Given the description of an element on the screen output the (x, y) to click on. 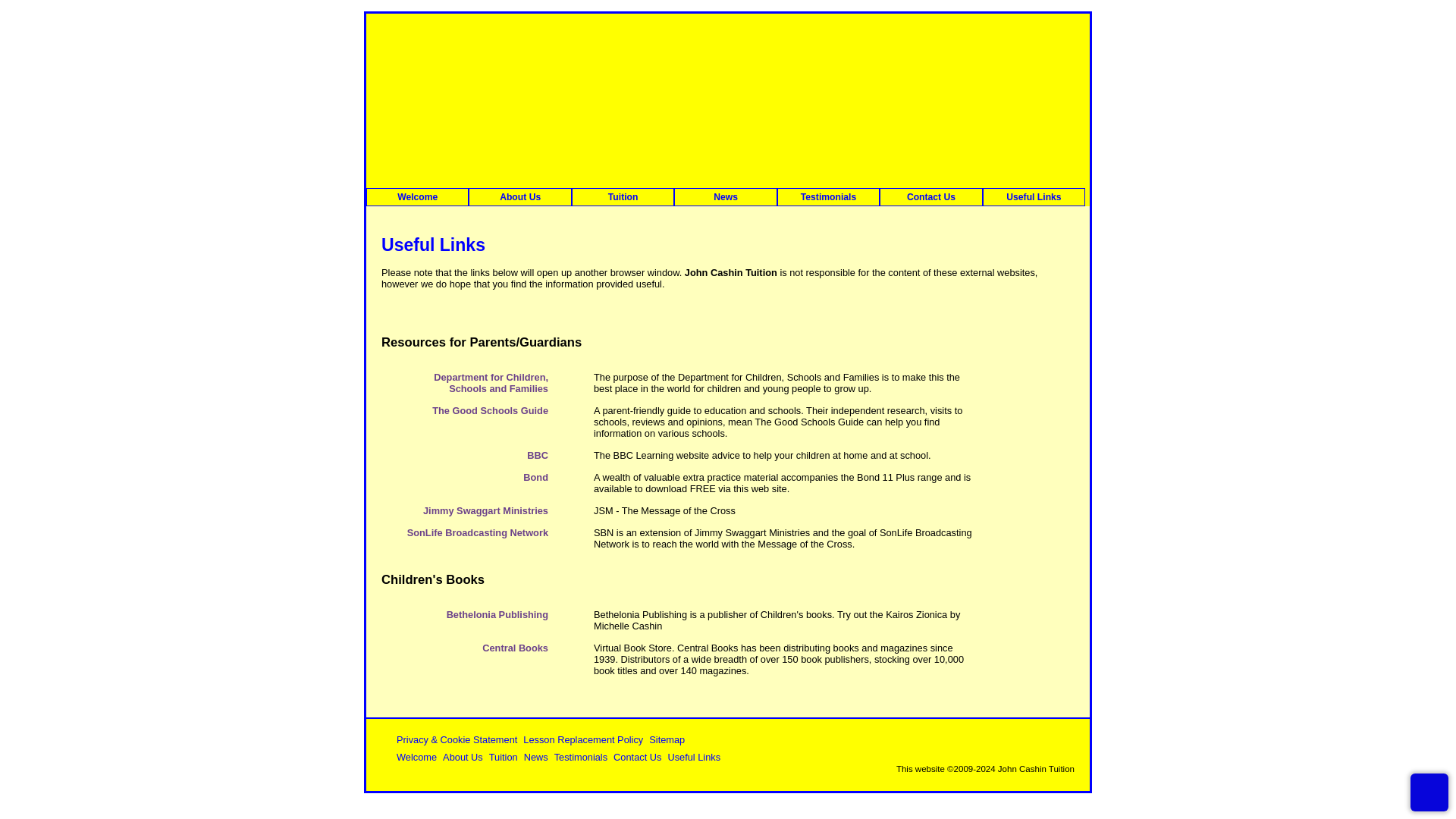
Sitemap (666, 739)
Useful Links (693, 756)
Welcome (416, 756)
About Us (462, 756)
Contact Us (930, 197)
Testimonials (828, 197)
Department for Children, Schools and Families (490, 382)
Bethelonia Publishing (497, 614)
BBC (537, 455)
Welcome (417, 197)
